Given the description of an element on the screen output the (x, y) to click on. 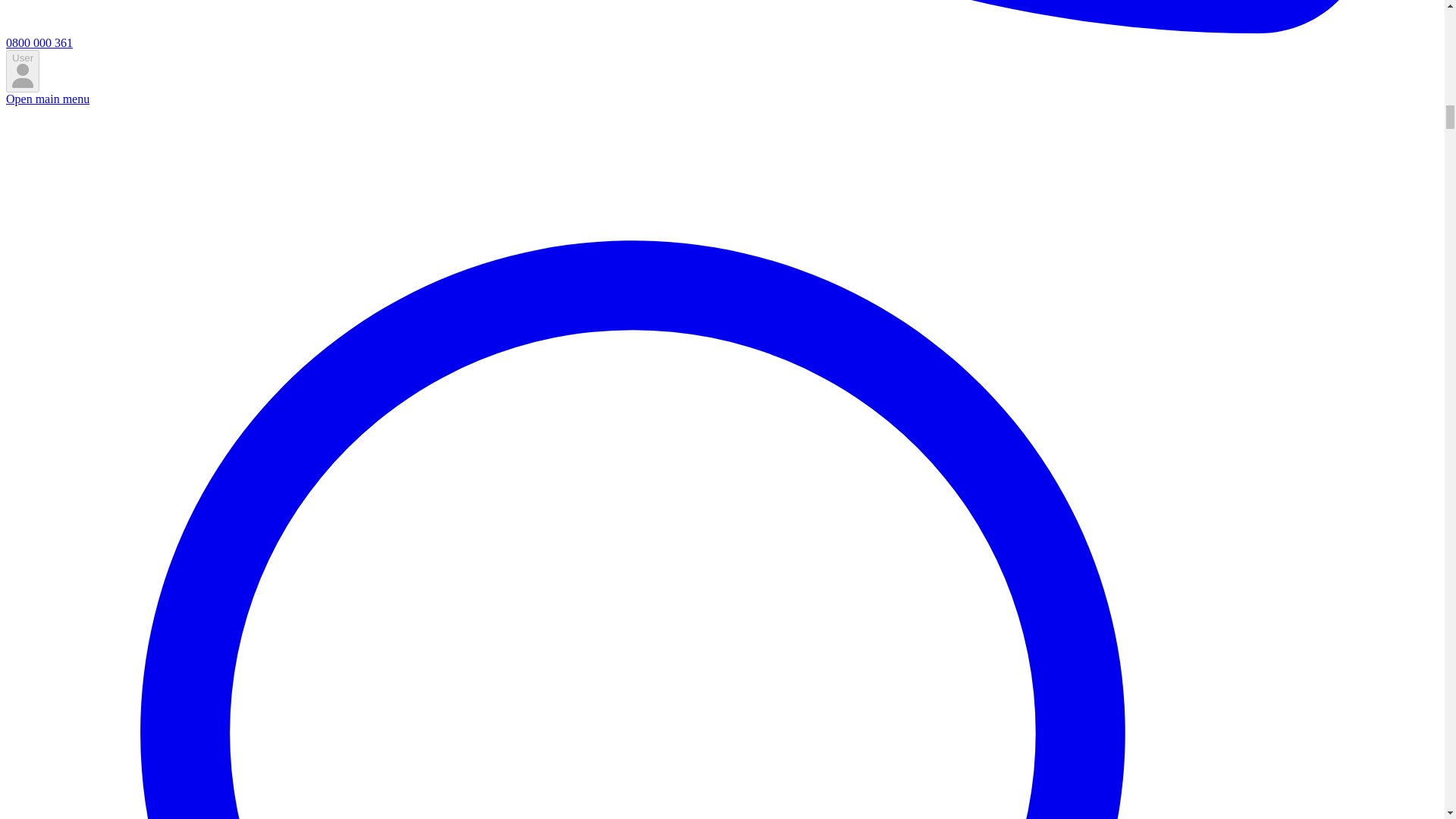
User (22, 70)
